Given the description of an element on the screen output the (x, y) to click on. 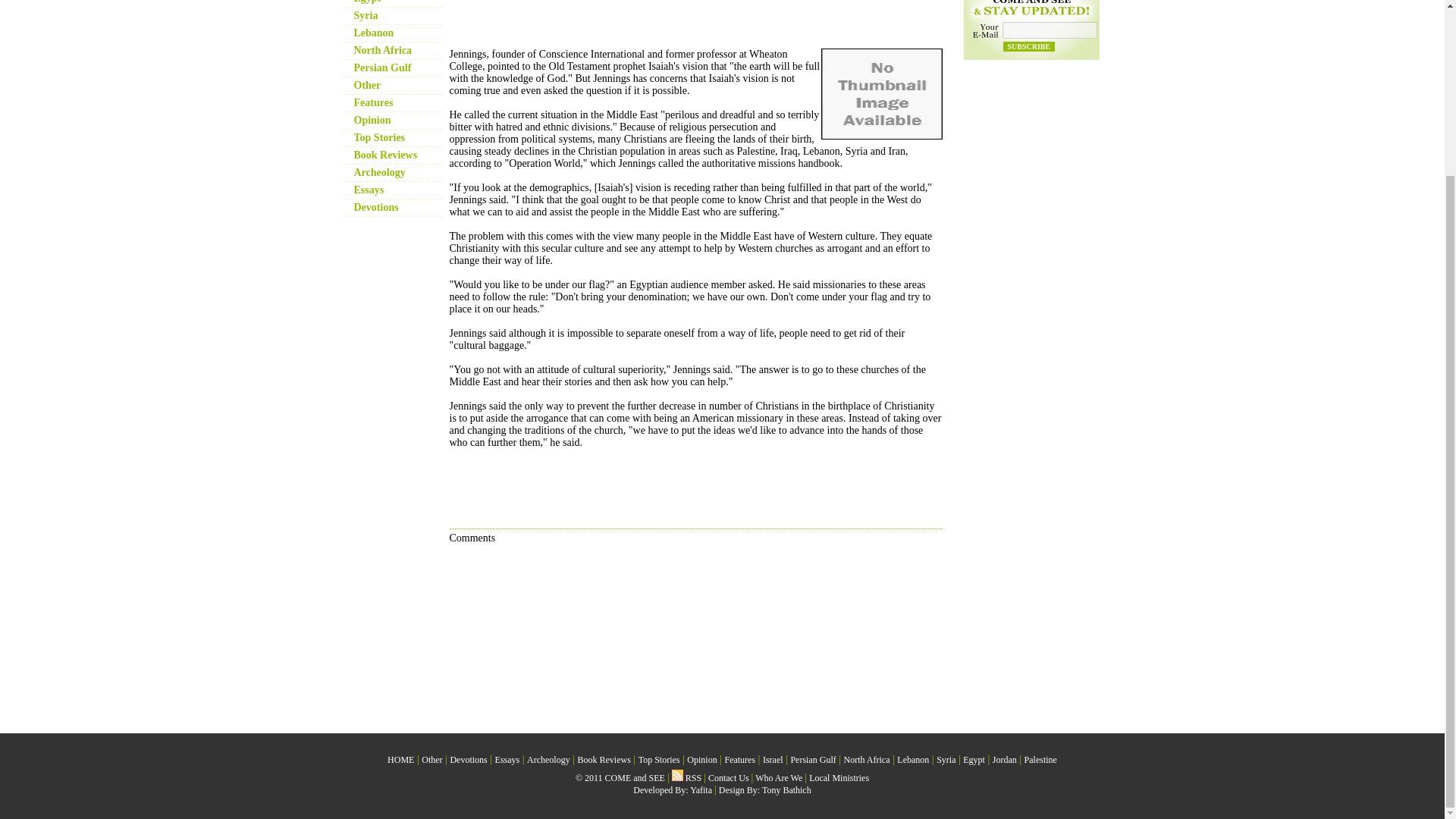
Essays (507, 759)
Persian Gulf (381, 67)
Devotions (375, 206)
Top Stories (378, 137)
Lebanon (373, 32)
SUBSCRIBE (1028, 46)
Lebanon (373, 32)
North Africa (382, 50)
Features (373, 102)
Other (366, 84)
Devotions (467, 759)
Book Reviews (384, 154)
Opinion (371, 120)
SUBSCRIBE (1028, 46)
North Africa (382, 50)
